Given the description of an element on the screen output the (x, y) to click on. 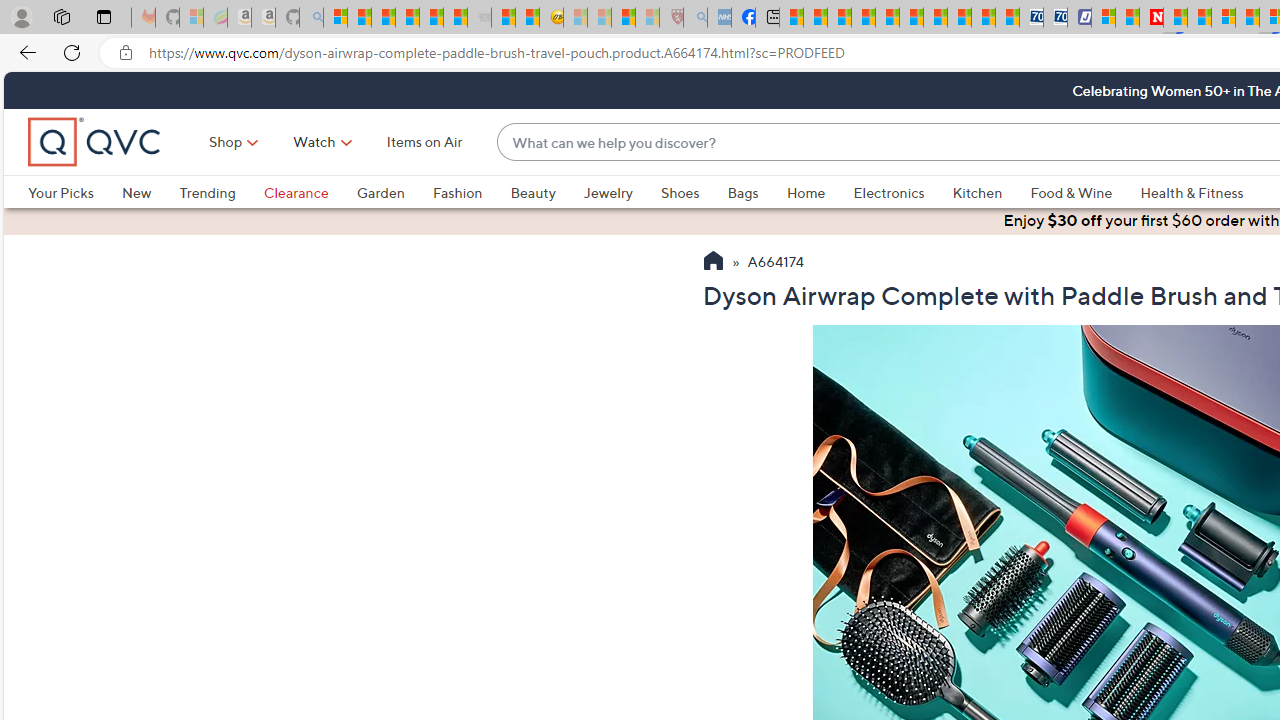
Return to QVC Homepage (712, 263)
QVC home (95, 141)
Your Picks (74, 192)
Clearance (295, 192)
Electronics (888, 192)
Trending (207, 192)
Items on Air (424, 141)
Kitchen (977, 192)
